Given the description of an element on the screen output the (x, y) to click on. 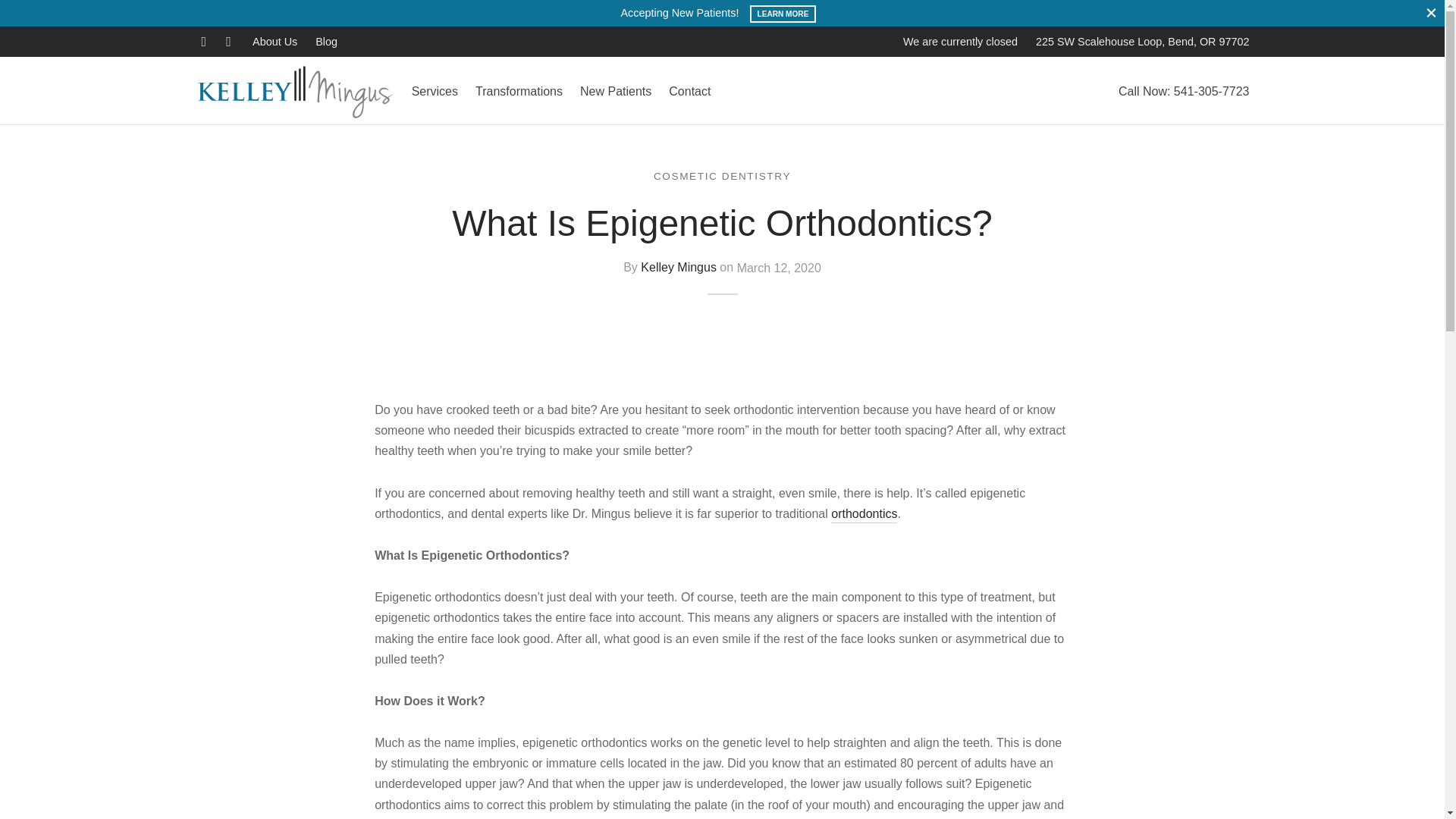
COSMETIC DENTISTRY (721, 176)
New Patients (614, 90)
Blog (322, 41)
Contact (689, 90)
225 SW Scalehouse Loop, Bend, OR 97702 (1142, 41)
LEARN MORE (782, 13)
Kelley Mingus (678, 268)
Services (435, 90)
orthodontics (863, 514)
Transformations (519, 90)
About Us (277, 41)
Posts by Kelley Mingus (678, 268)
